Given the description of an element on the screen output the (x, y) to click on. 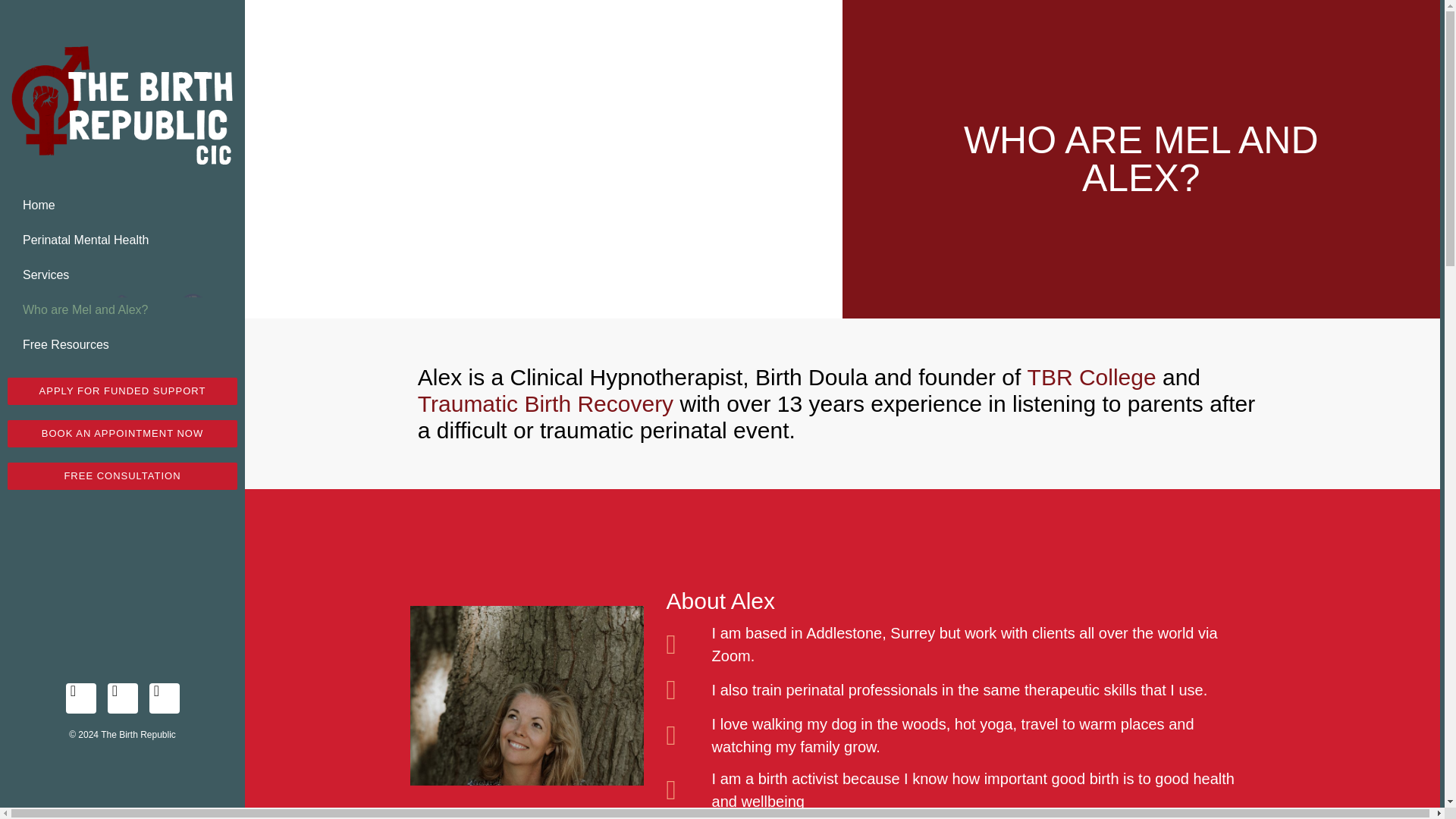
Free Resources (122, 344)
Perinatal Mental Health (122, 239)
Services (122, 274)
BOOK AN APPOINTMENT NOW (122, 433)
APPLY FOR FUNDED SUPPORT (122, 390)
Home (122, 205)
FREE CONSULTATION (122, 475)
Who are Mel and Alex? (122, 309)
TBR College (1091, 376)
